Given the description of an element on the screen output the (x, y) to click on. 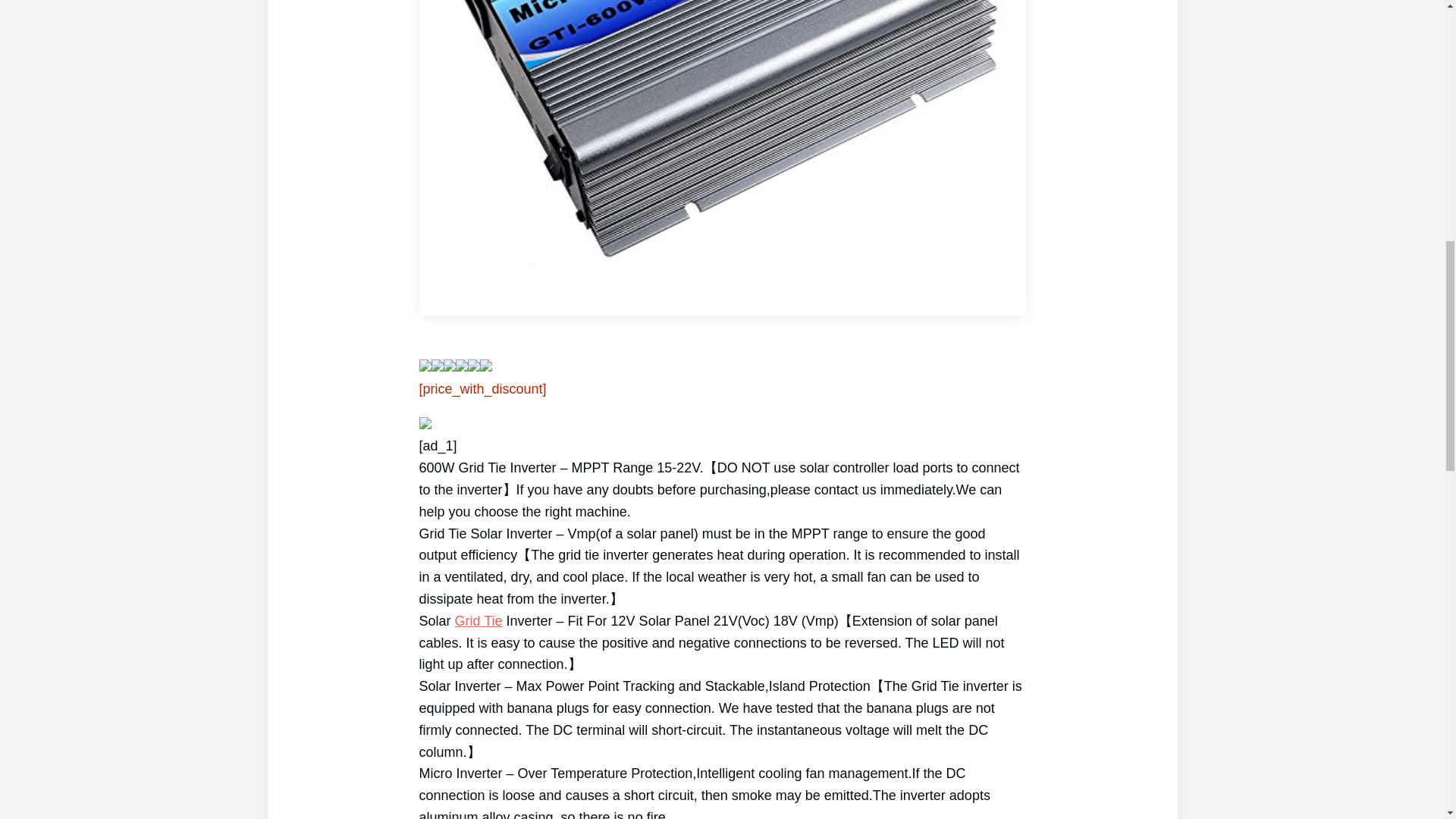
Grid Tie (478, 620)
Grid Tie (478, 620)
